Given the description of an element on the screen output the (x, y) to click on. 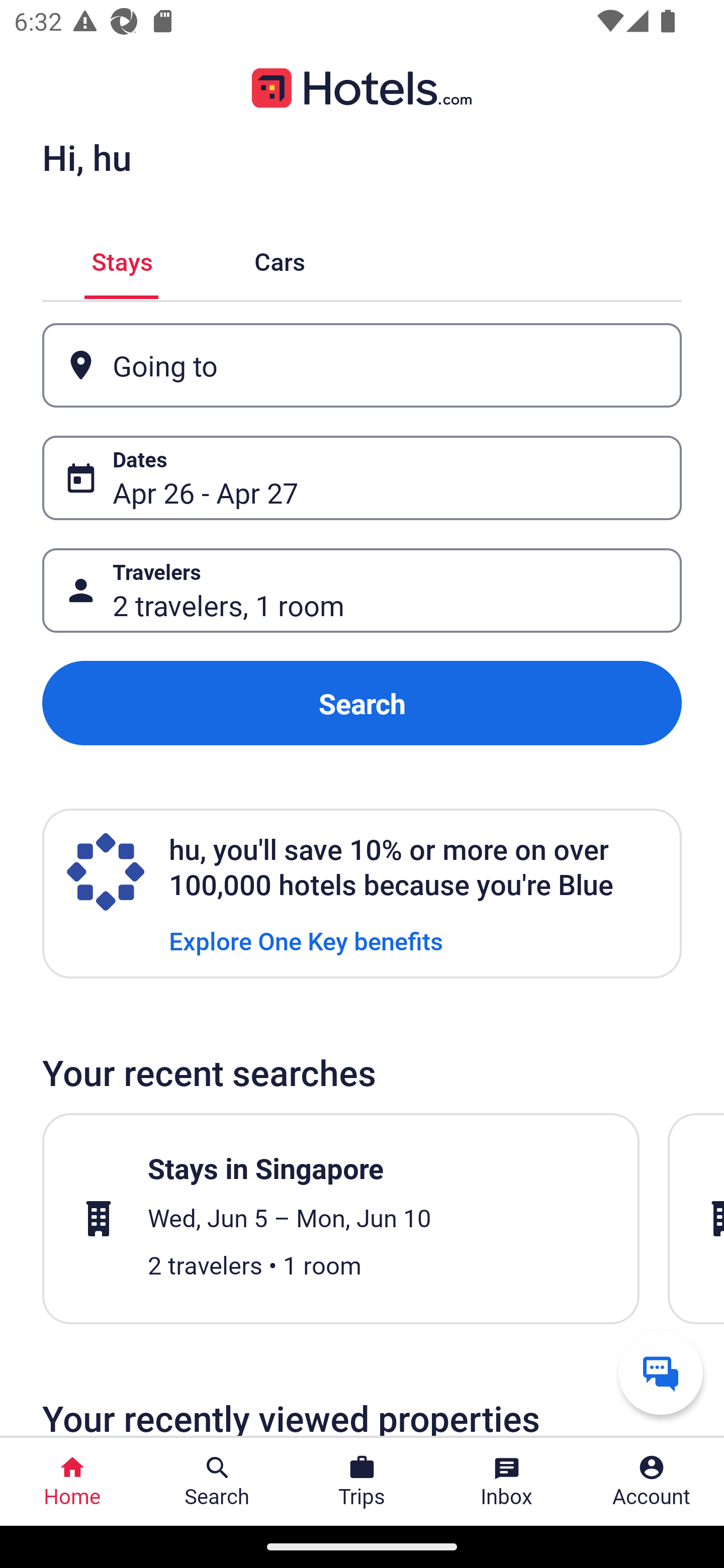
Hi, hu (86, 156)
Cars (279, 259)
Going to Button (361, 365)
Dates Button Apr 26 - Apr 27 (361, 477)
Travelers Button 2 travelers, 1 room (361, 590)
Search (361, 702)
Get help from a virtual agent (660, 1371)
Search Search Button (216, 1481)
Trips Trips Button (361, 1481)
Inbox Inbox Button (506, 1481)
Account Profile. Button (651, 1481)
